Given the description of an element on the screen output the (x, y) to click on. 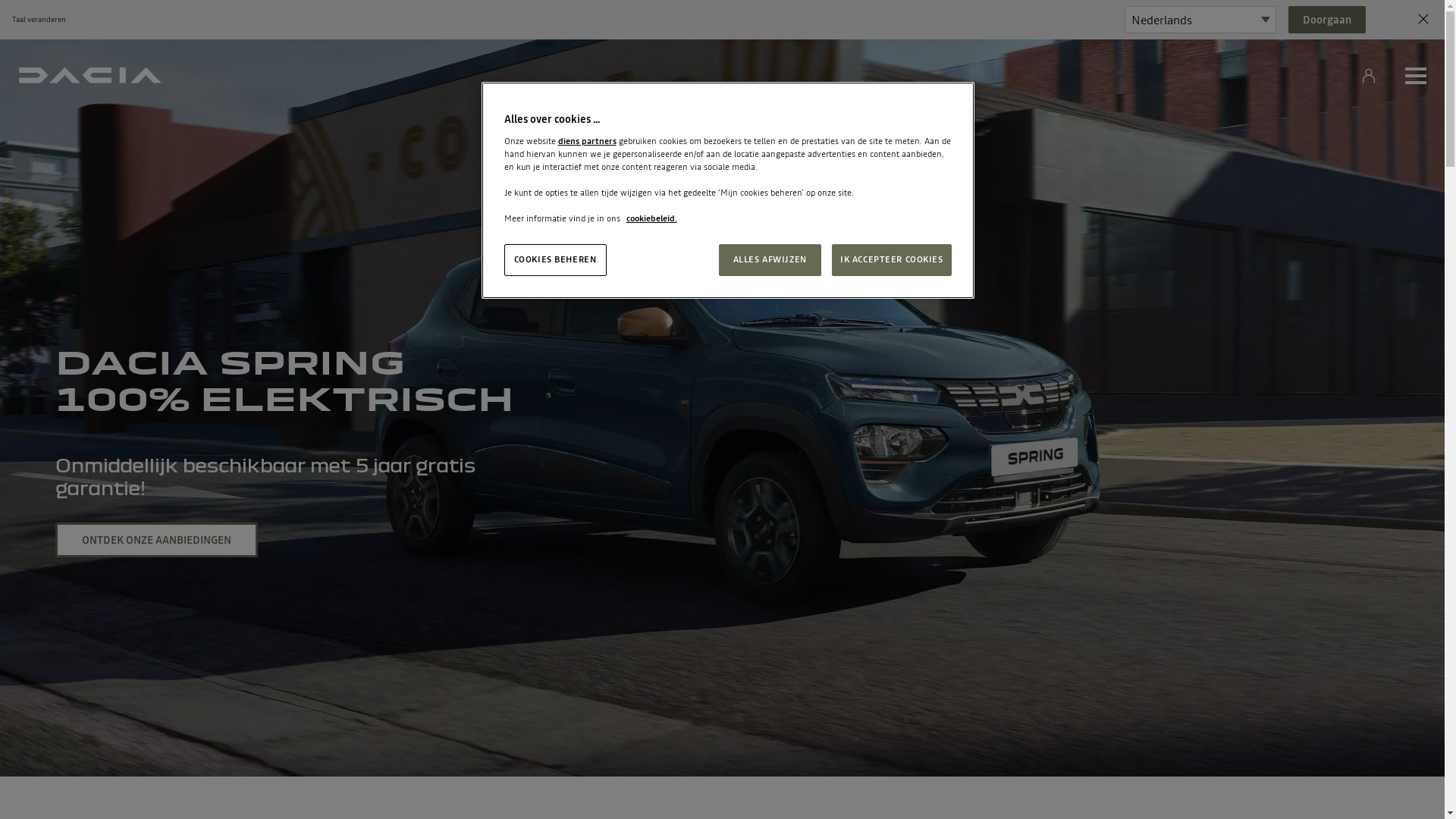
diens partners Element type: text (587, 140)
COOKIES BEHEREN Element type: text (554, 260)
ALLES AFWIJZEN Element type: text (769, 260)
Doorgaan Element type: text (1326, 19)
cookiebeleid. Element type: text (651, 218)
IK ACCEPTEER COOKIES Element type: text (890, 260)
ONTDEK ONZE AANBIEDINGEN Element type: text (155, 539)
